Given the description of an element on the screen output the (x, y) to click on. 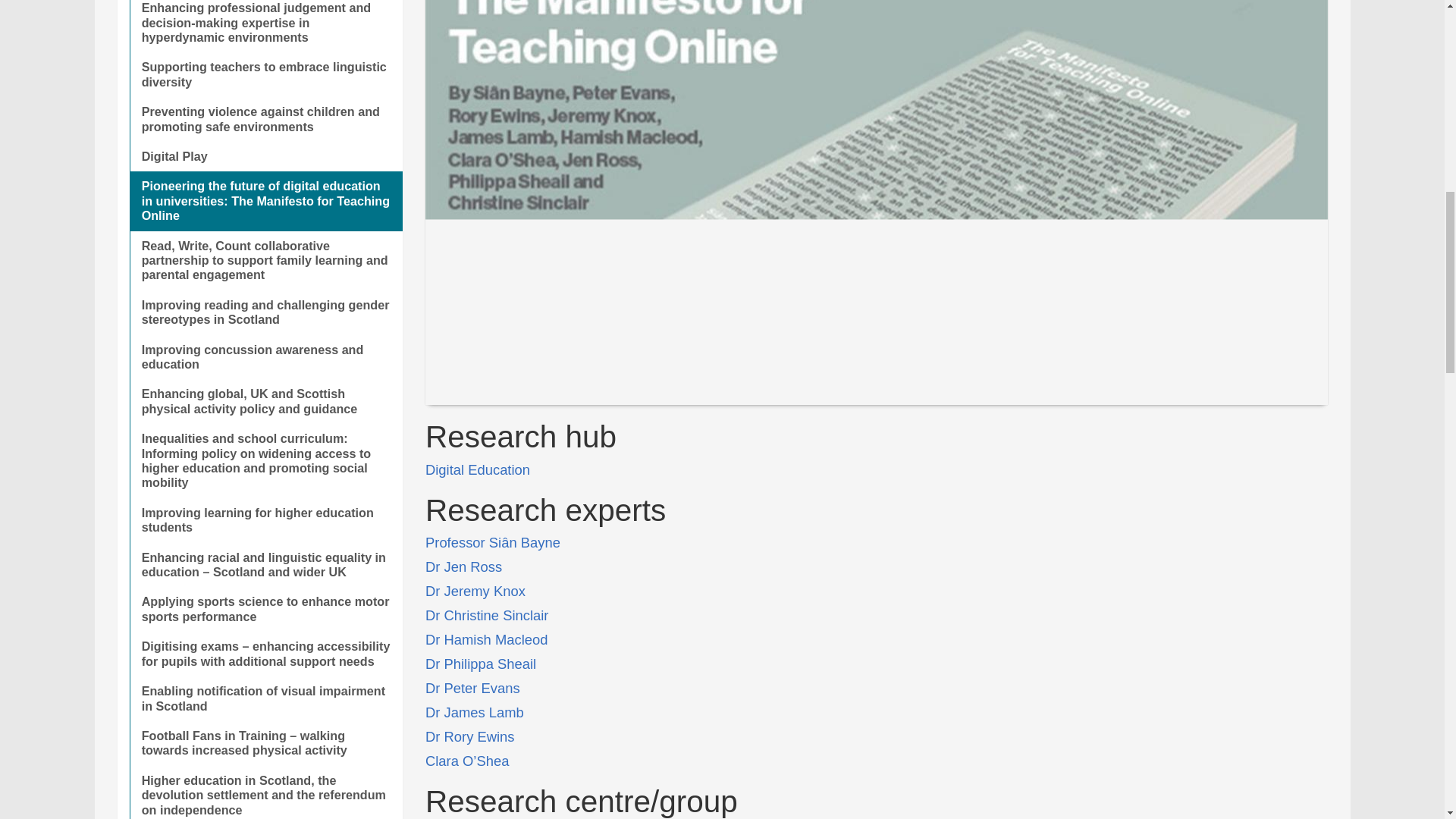
Improving concussion awareness and education (266, 357)
Applying sports science to enhance motor sports performance (266, 609)
Digital Play (266, 156)
Digital Education (477, 469)
Improving learning for higher education students (266, 519)
